Given the description of an element on the screen output the (x, y) to click on. 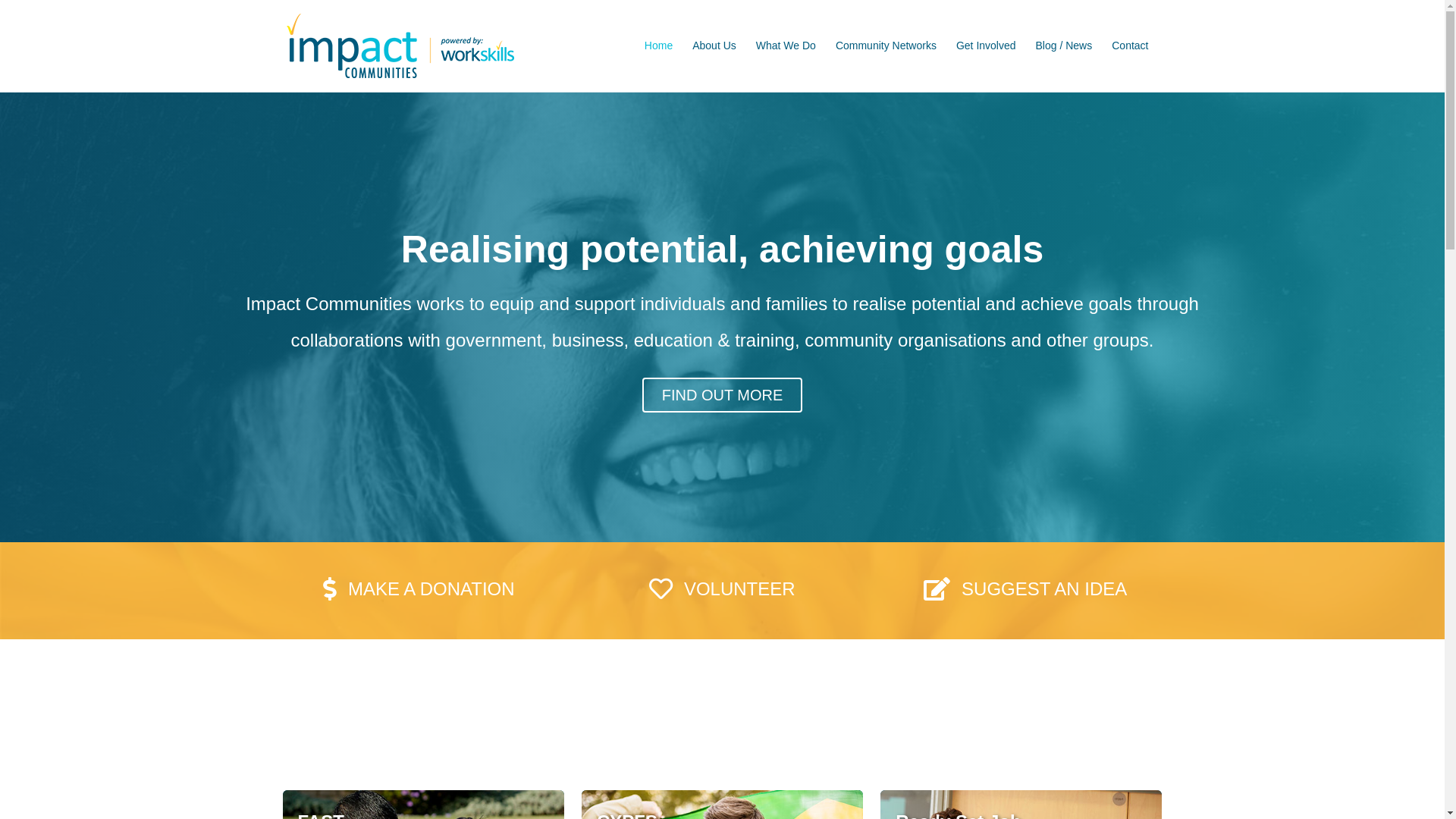
What We Do Element type: text (785, 46)
Get Involved Element type: text (986, 46)
MAKE A DONATION Element type: text (418, 588)
Home Element type: text (658, 46)
VOLUNTEER Element type: text (721, 588)
Community Networks Element type: text (885, 46)
About Us Element type: text (714, 46)
FIND OUT MORE Element type: text (722, 394)
Blog / News Element type: text (1064, 46)
SUGGEST AN IDEA Element type: text (1024, 588)
Contact Element type: text (1129, 46)
